Given the description of an element on the screen output the (x, y) to click on. 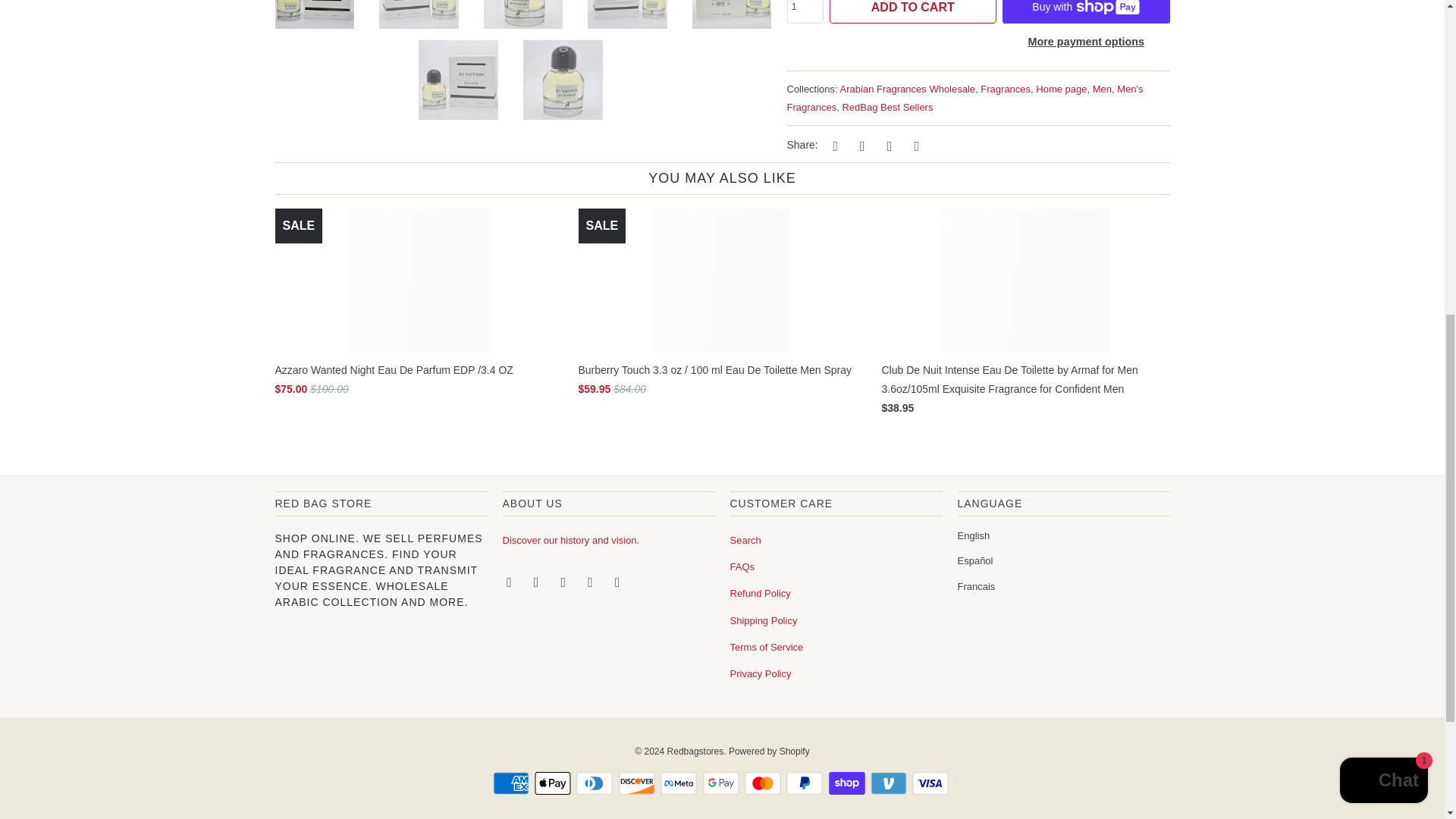
American Express (512, 783)
Visa (932, 783)
Mastercard (764, 783)
Meta Pay (680, 783)
Venmo (890, 783)
Diners Club (595, 783)
Google Pay (721, 783)
1 (805, 11)
Shop Pay (847, 783)
Discover (638, 783)
PayPal (805, 783)
Apple Pay (553, 783)
